Given the description of an element on the screen output the (x, y) to click on. 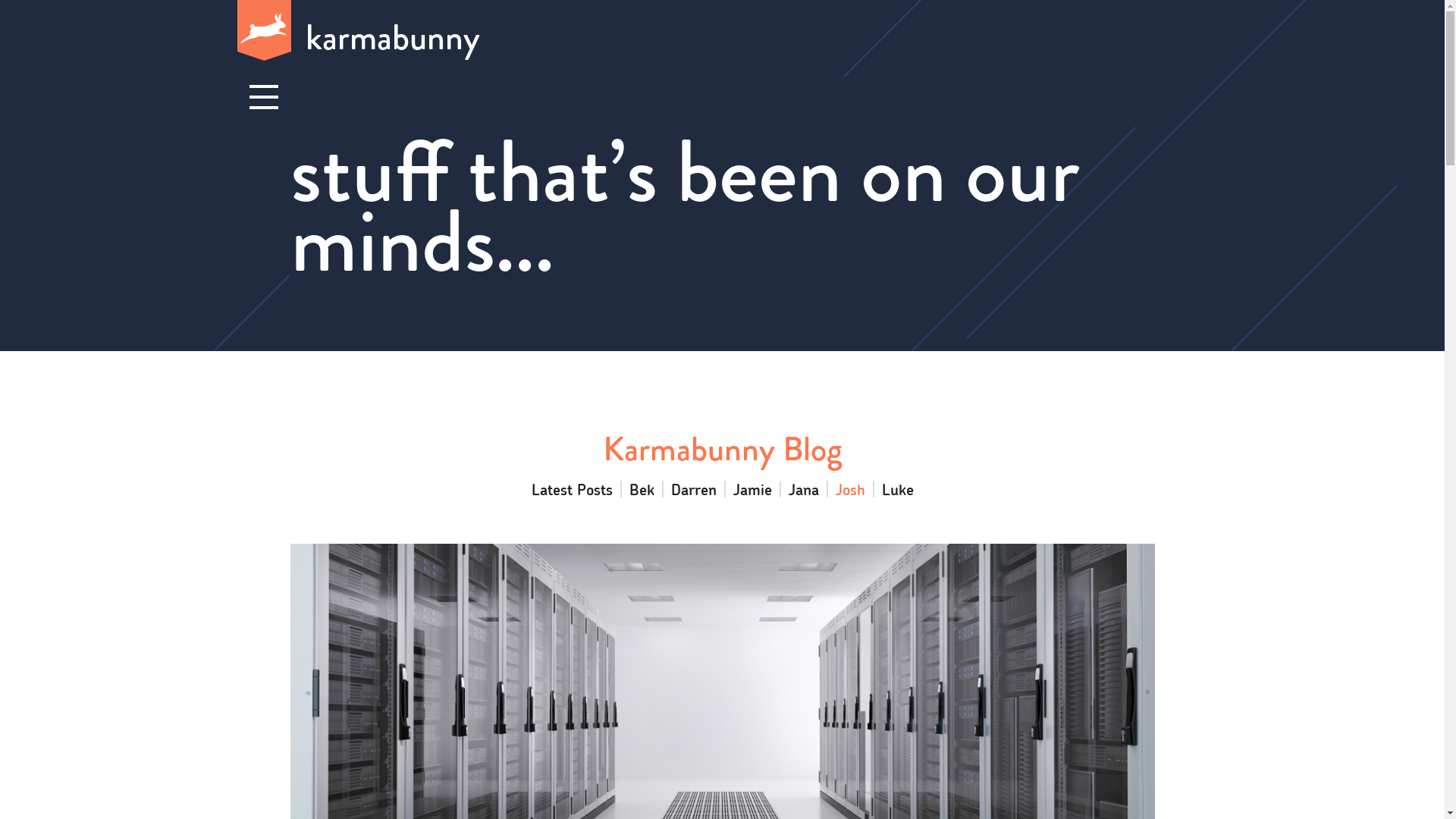
Luke Element type: text (897, 488)
Josh Element type: text (850, 488)
Latest Posts Element type: text (570, 488)
Toggle menu Element type: text (263, 97)
Bek Element type: text (641, 488)
Jamie Element type: text (751, 488)
karmabunny Element type: text (721, 32)
Jana Element type: text (803, 488)
Darren Element type: text (692, 488)
